Given the description of an element on the screen output the (x, y) to click on. 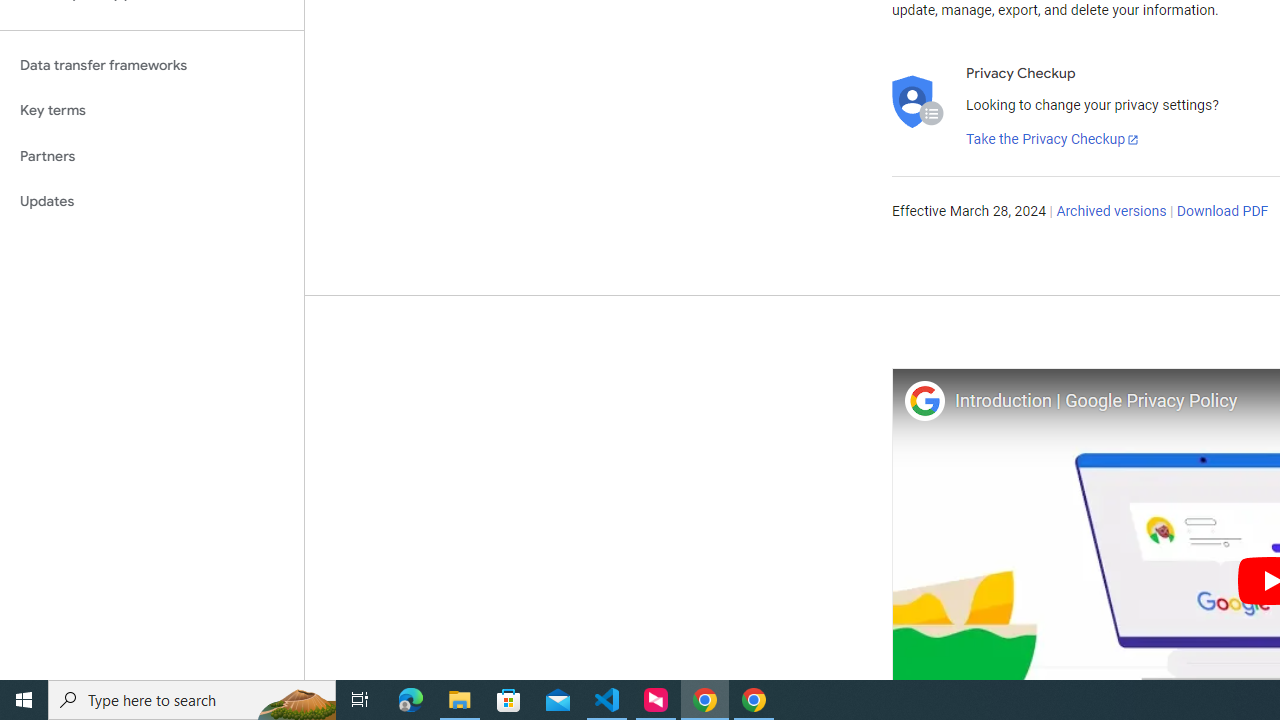
Photo image of Google (924, 400)
Take the Privacy Checkup (1053, 140)
